Given the description of an element on the screen output the (x, y) to click on. 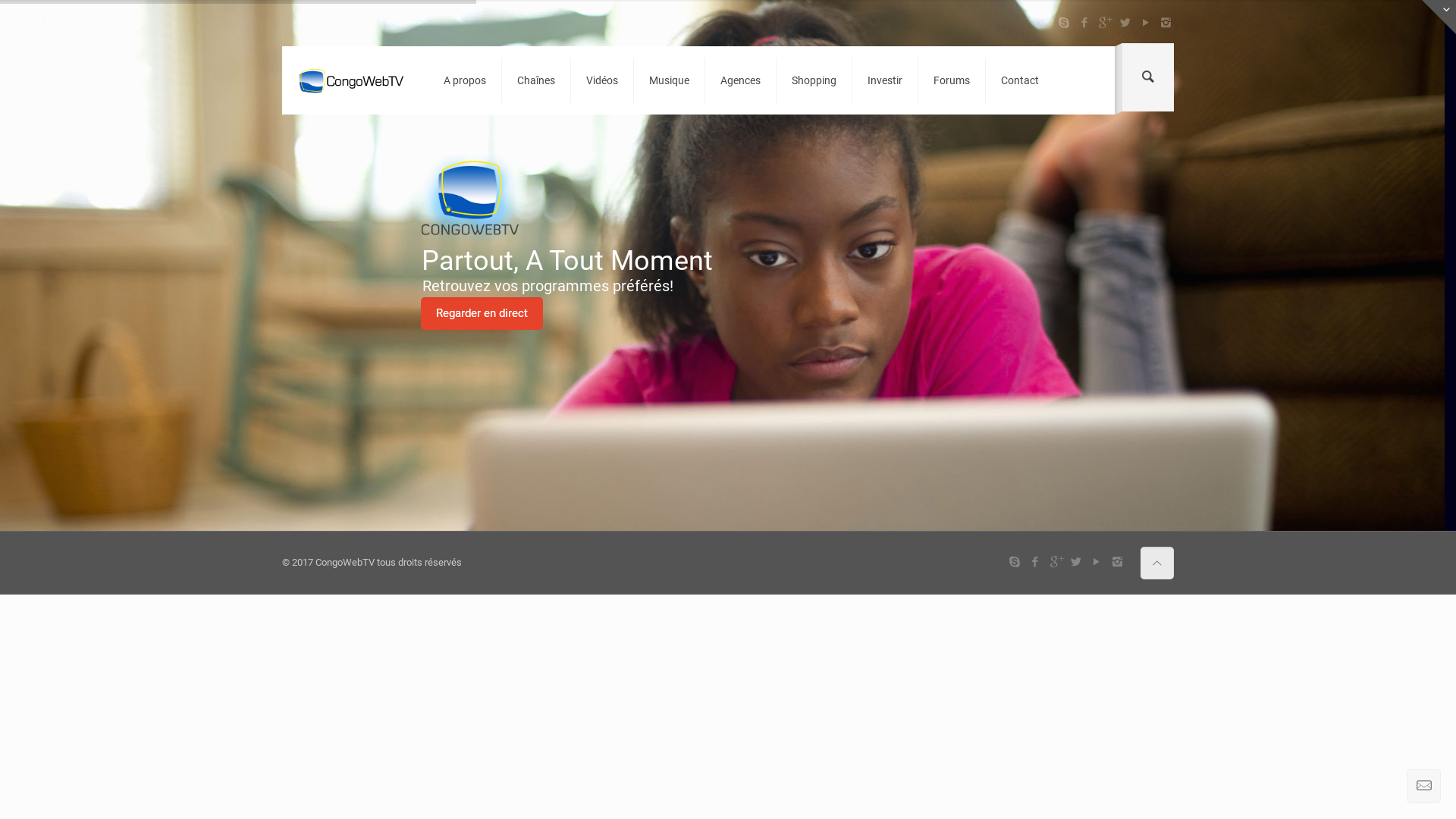
Instagram Element type: hover (1165, 22)
YouTube Element type: hover (1096, 561)
A propos Element type: text (465, 80)
YouTube Element type: hover (1145, 22)
Facebook Element type: hover (1084, 22)
Instagram Element type: hover (1117, 561)
Twitter Element type: hover (1076, 561)
Forums Element type: text (951, 80)
Shopping Element type: text (814, 80)
Skype Element type: hover (1063, 22)
Google+ Element type: hover (1055, 561)
Investir Element type: text (885, 80)
Regarder en direct Element type: text (481, 313)
Musique Element type: text (669, 80)
Twitter Element type: hover (1124, 22)
Skype Element type: hover (1014, 561)
Contact Element type: text (1019, 80)
Agences Element type: text (740, 80)
Facebook Element type: hover (1035, 561)
CongoWebTV Element type: hover (351, 80)
Google+ Element type: hover (1104, 22)
